Given the description of an element on the screen output the (x, y) to click on. 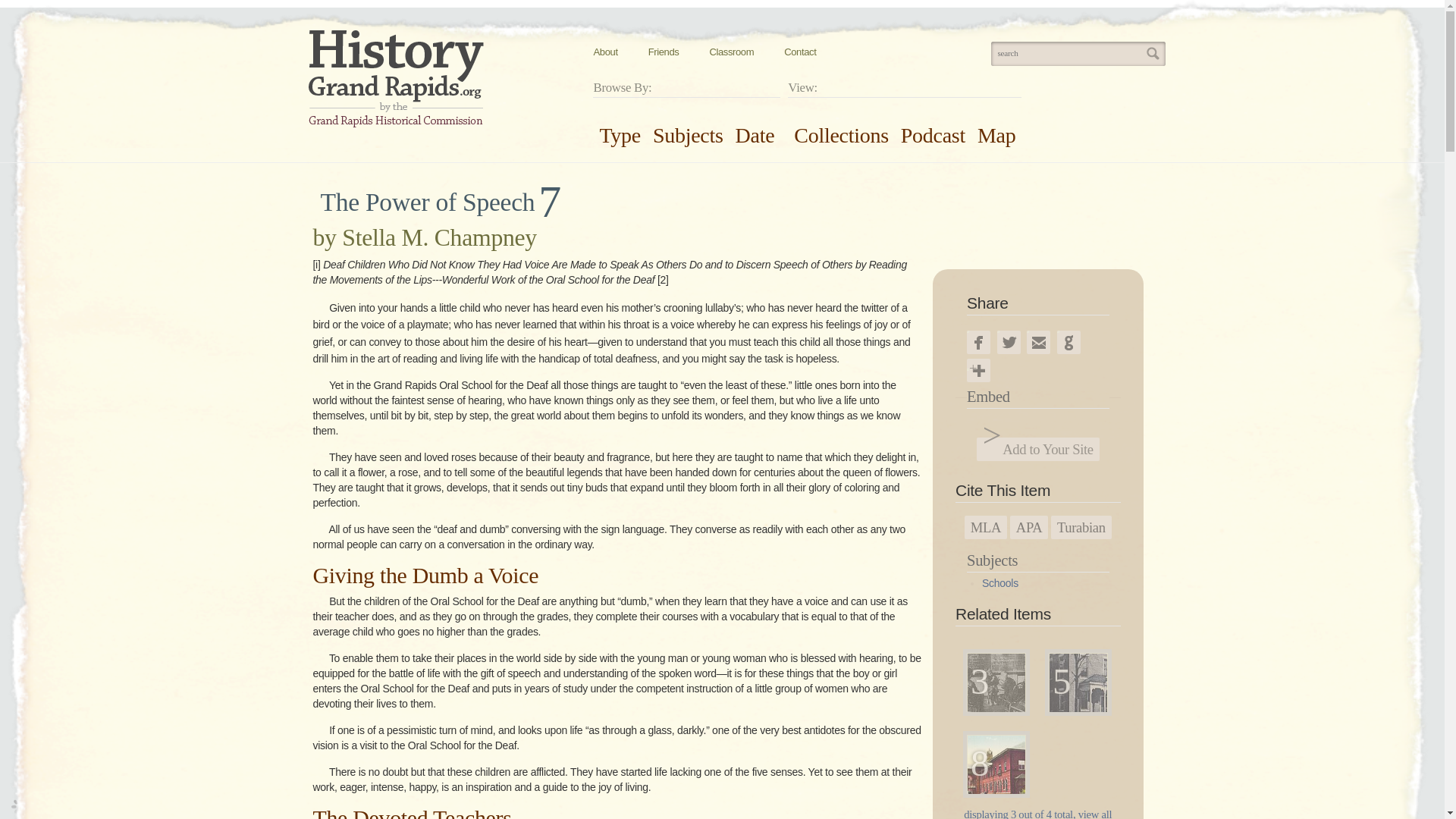
Map (995, 135)
Collections (840, 135)
Date (754, 135)
Contact (799, 52)
Subjects (687, 135)
homepage (395, 78)
Friends (663, 52)
Podcast (933, 135)
Contact (799, 52)
